Given the description of an element on the screen output the (x, y) to click on. 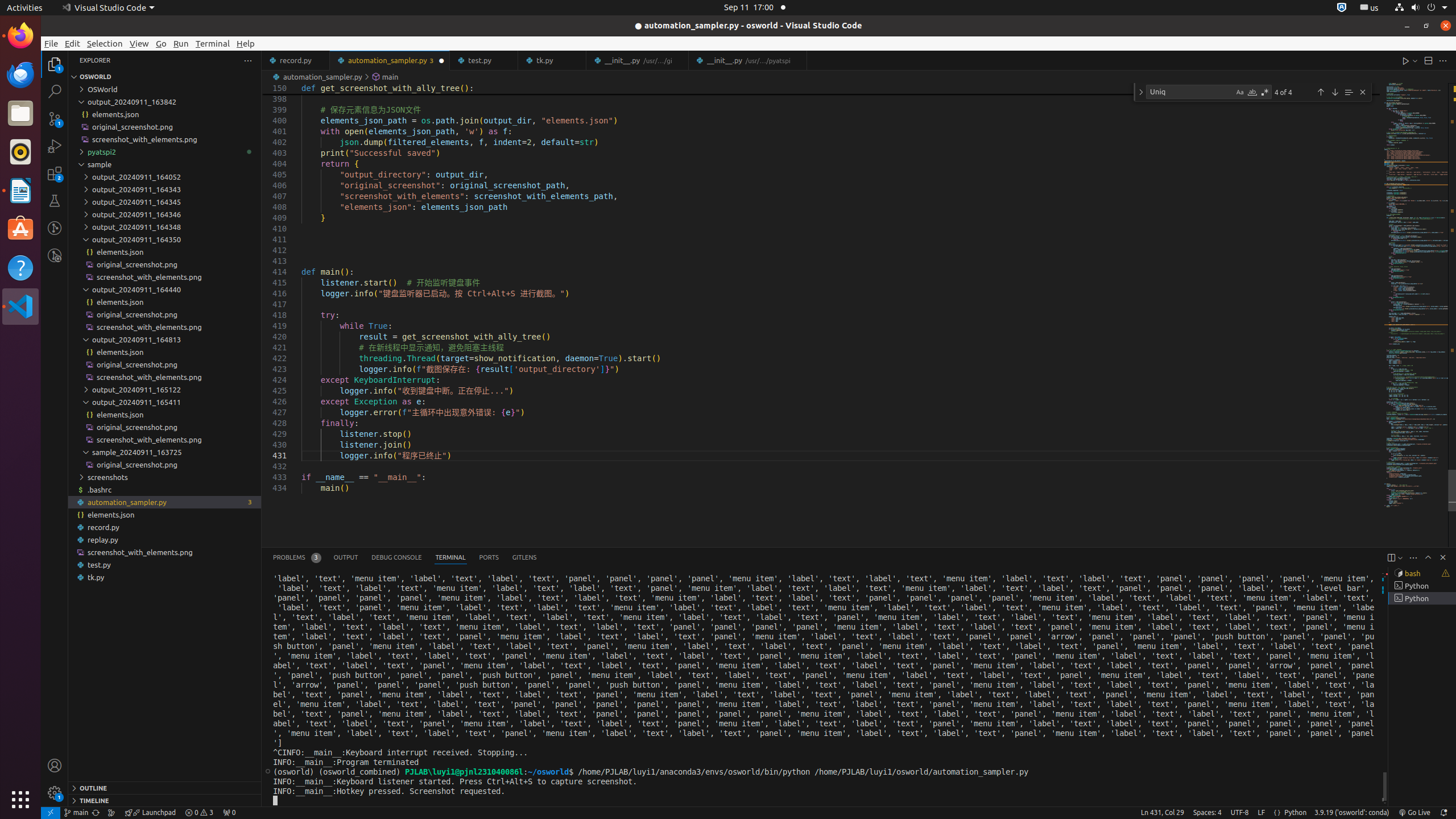
Match Case (Alt+C) Element type: check-box (1239, 91)
Terminal (Ctrl+`) Element type: page-tab (450, 557)
UTF-8 Element type: push-button (1239, 812)
.bashrc Element type: tree-item (164, 489)
